Given the description of an element on the screen output the (x, y) to click on. 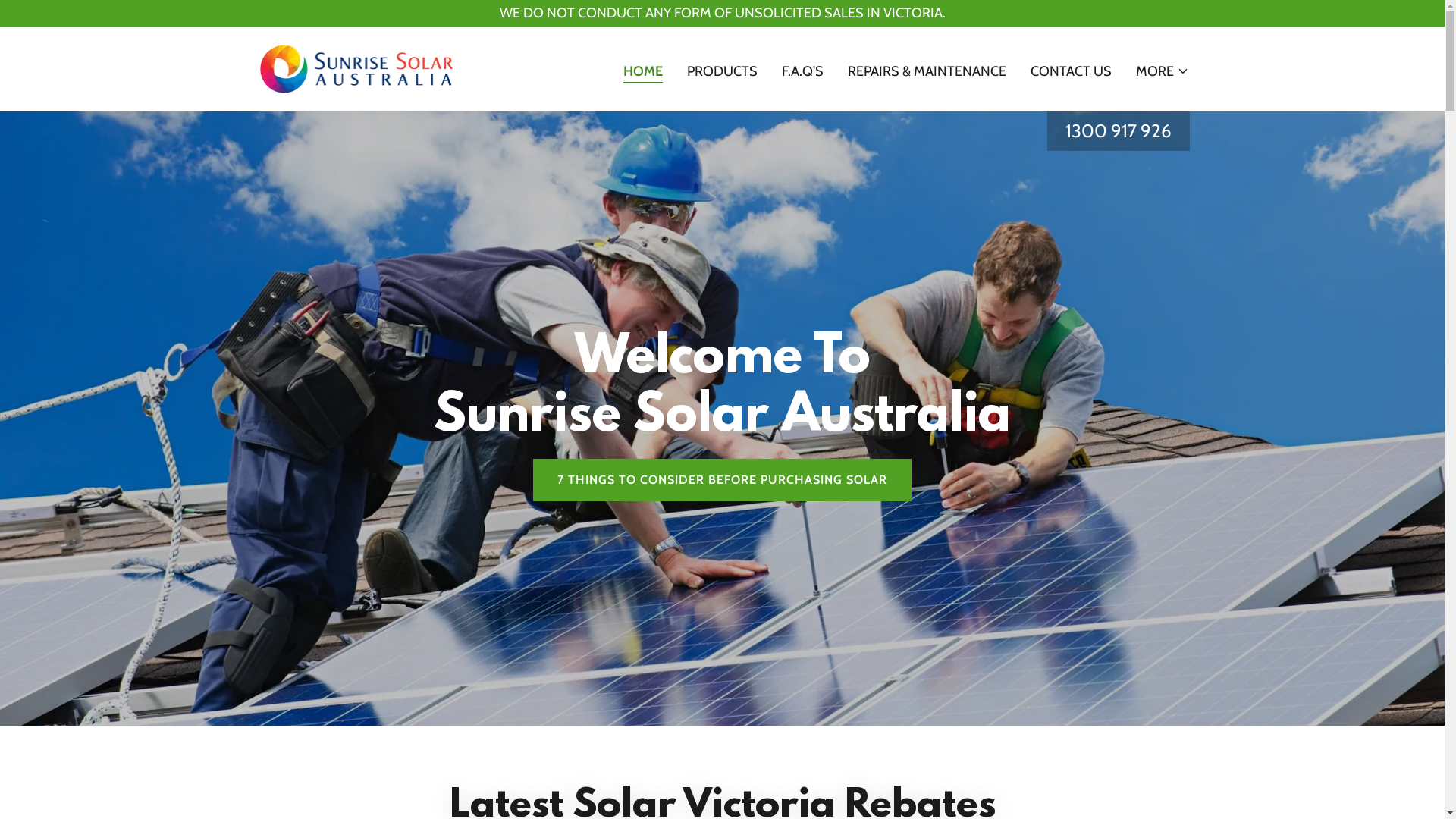
7 THINGS TO CONSIDER BEFORE PURCHASING SOLAR Element type: text (722, 479)
CONTACT US Element type: text (1071, 70)
MORE Element type: text (1162, 71)
PRODUCTS Element type: text (722, 70)
Sunrise Solar Australia Element type: hover (356, 67)
REPAIRS & MAINTENANCE Element type: text (926, 70)
1300 917 926 Element type: text (1117, 130)
F.A.Q'S Element type: text (802, 70)
HOME Element type: text (642, 72)
